Given the description of an element on the screen output the (x, y) to click on. 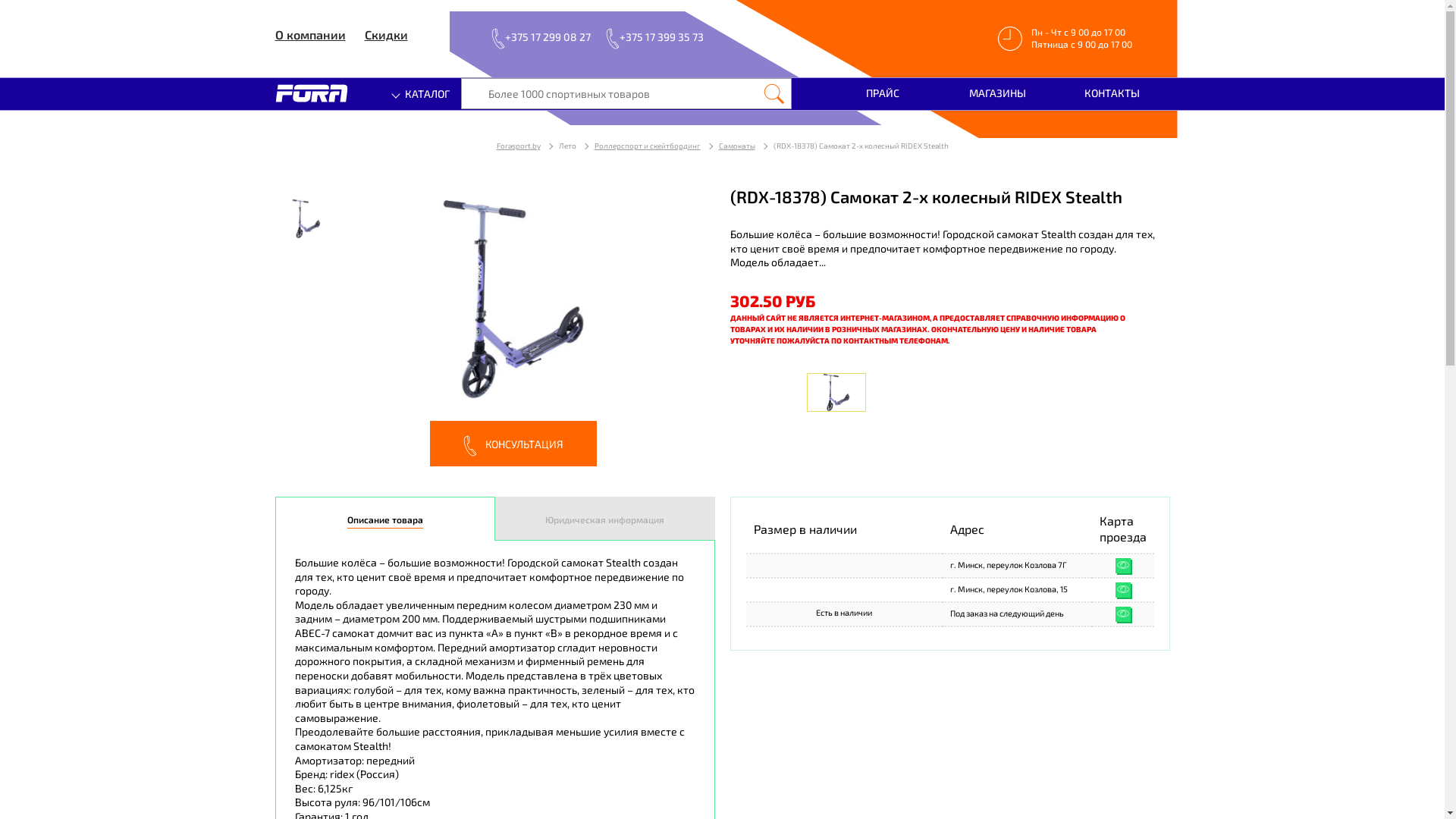
Forasport.by Element type: text (517, 145)
Logo Element type: hover (310, 93)
